Given the description of an element on the screen output the (x, y) to click on. 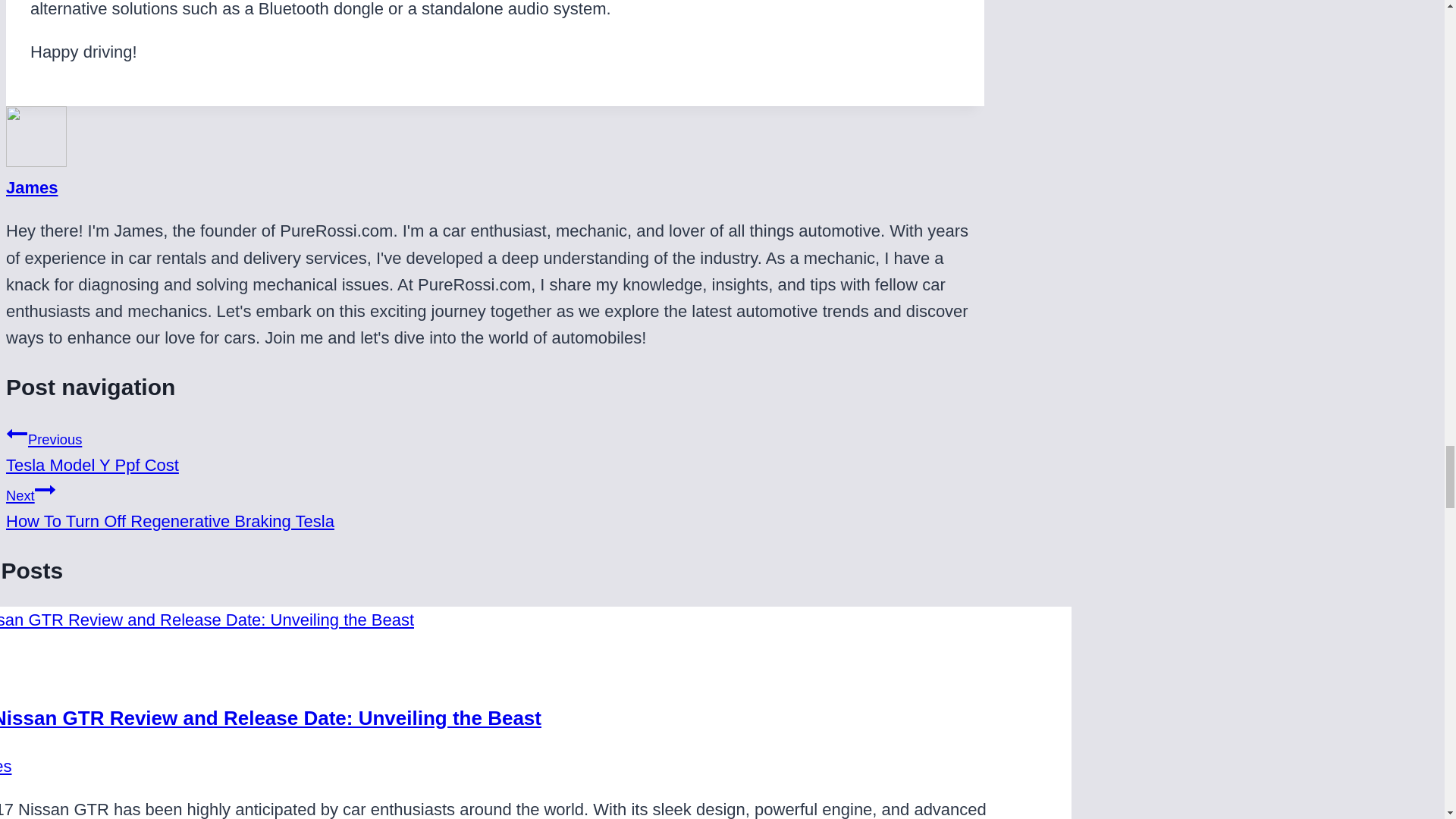
Posts by James (31, 187)
2017 Nissan GTR Review and Release Date: Unveiling the Beast (270, 717)
Continue (494, 504)
Previous (44, 489)
James (494, 449)
